Given the description of an element on the screen output the (x, y) to click on. 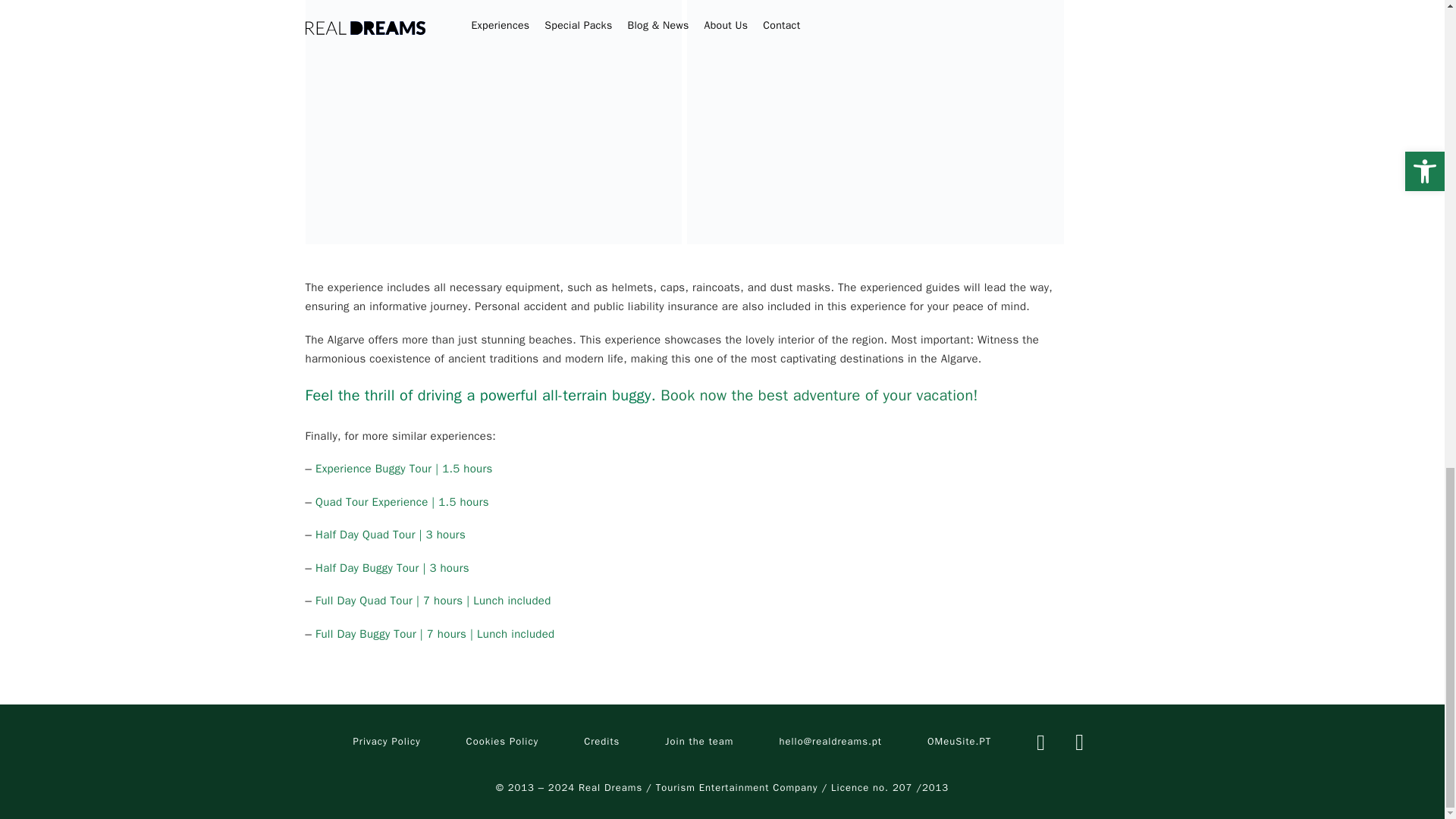
Mail to (830, 741)
Credits (601, 741)
Privacy Policy (386, 741)
Youtube (1079, 741)
Join the team (699, 741)
Privacy Policy (386, 741)
Credits (601, 741)
Cookies Policy (501, 741)
Join the team (699, 741)
Book now the best adventure of your vacation! (819, 394)
Cookies Policy (501, 741)
Linkedin (1040, 742)
Web Design . OMeuSite.PT (959, 741)
OMeuSite.PT (959, 741)
